Given the description of an element on the screen output the (x, y) to click on. 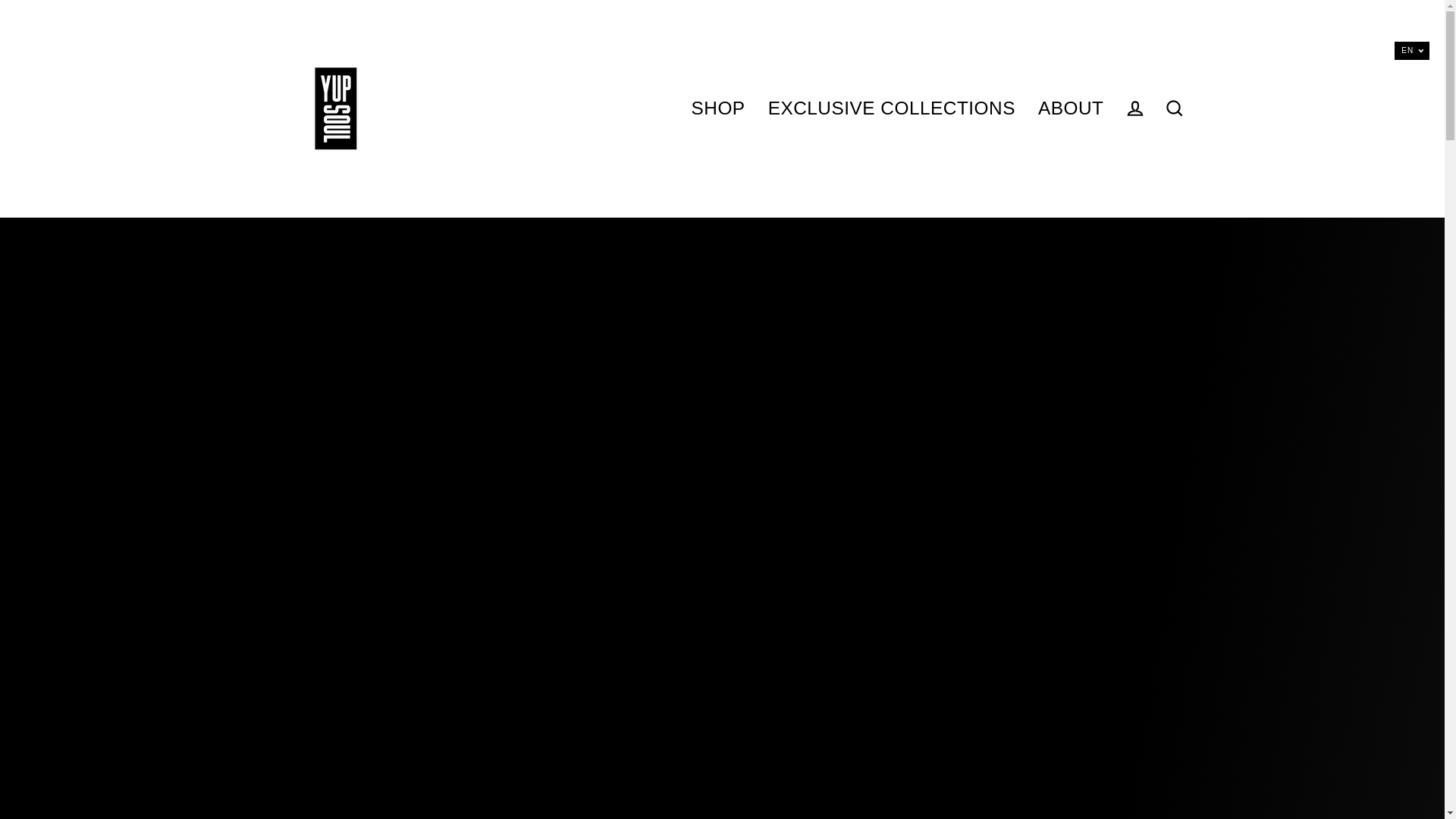
Search (1173, 108)
SHOP (718, 108)
ABOUT (1070, 108)
EXCLUSIVE COLLECTIONS (891, 108)
Log in (1134, 108)
